Given the description of an element on the screen output the (x, y) to click on. 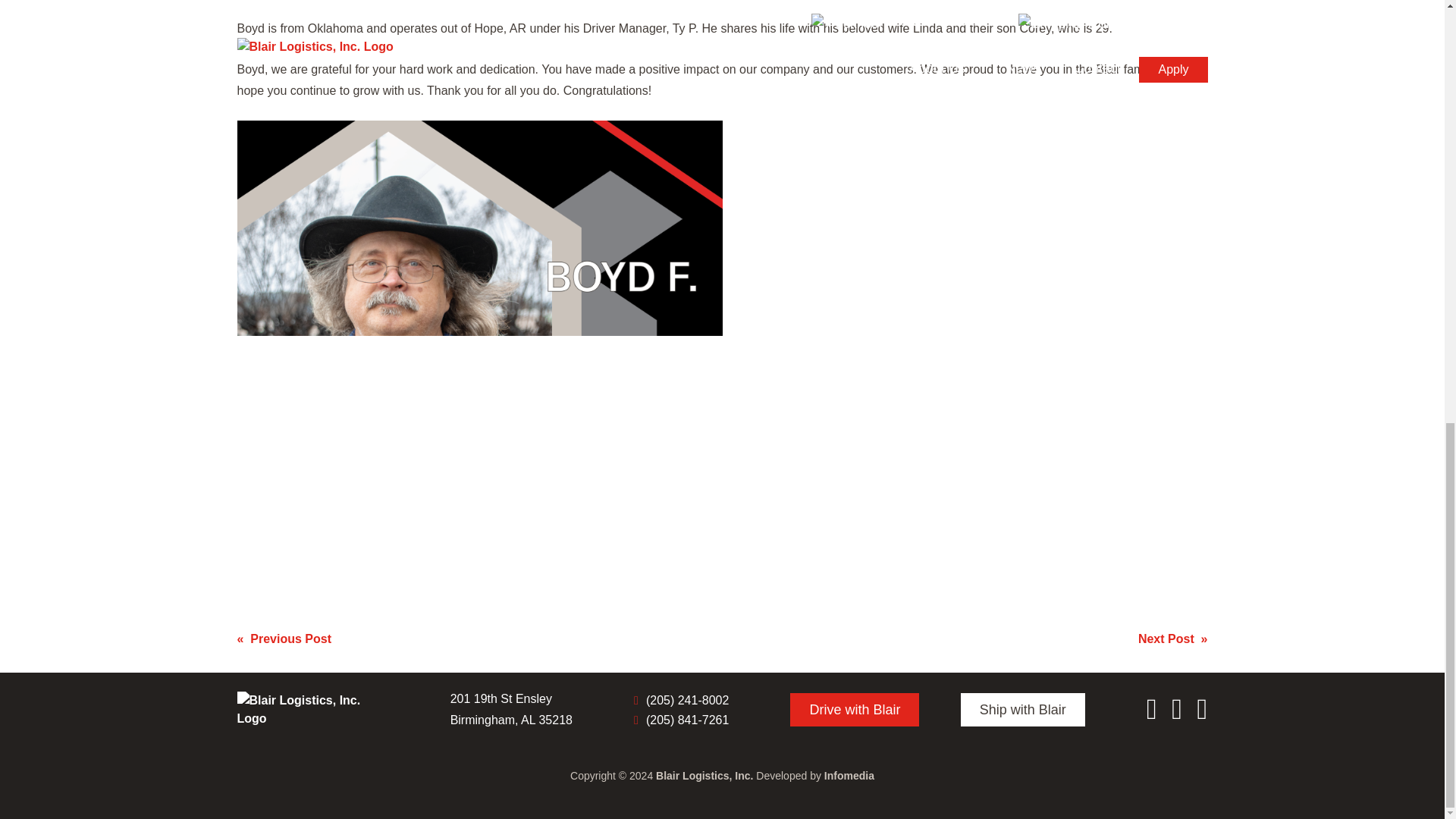
Ship with Blair (1022, 709)
Blair Logistics, Inc. (704, 775)
Drive with Blair (854, 709)
Infomedia (849, 775)
